Given the description of an element on the screen output the (x, y) to click on. 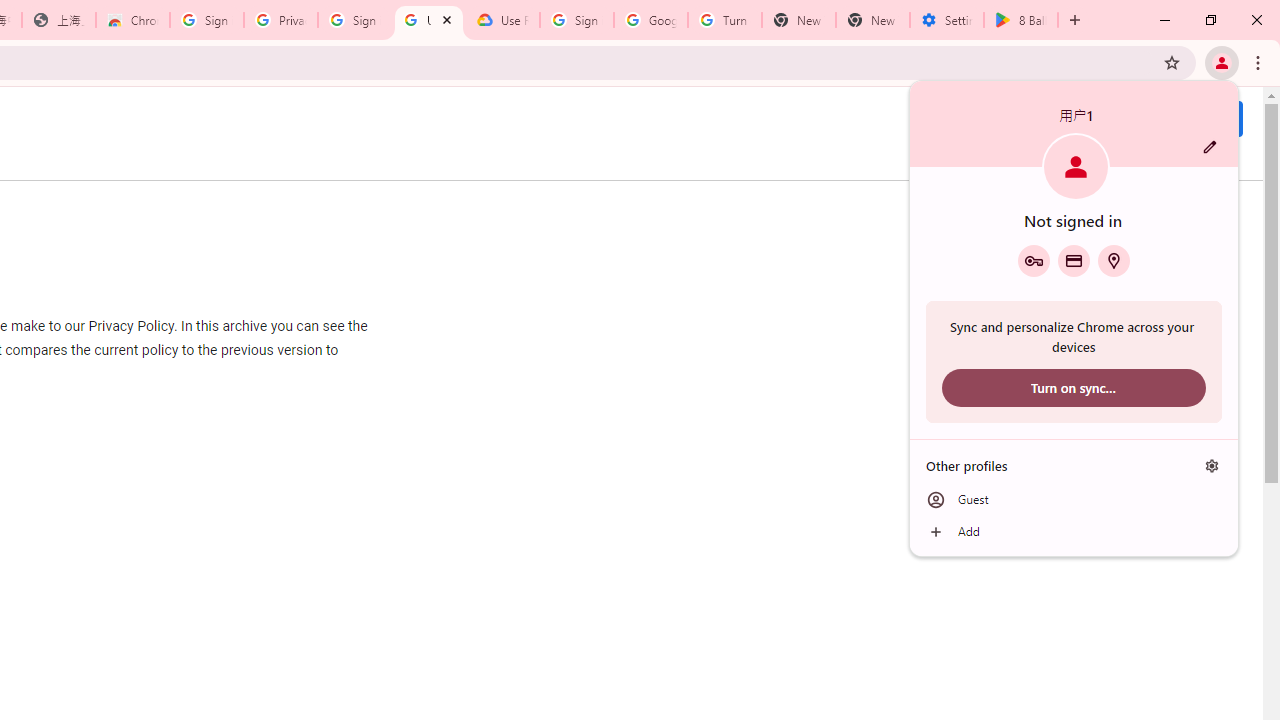
Sign in - Google Accounts (577, 20)
Google Account Help (651, 20)
Sign in - Google Accounts (354, 20)
Turn cookies on or off - Computer - Google Account Help (724, 20)
Manage profiles (1211, 465)
New Tab (872, 20)
Addresses and more (1114, 260)
